Given the description of an element on the screen output the (x, y) to click on. 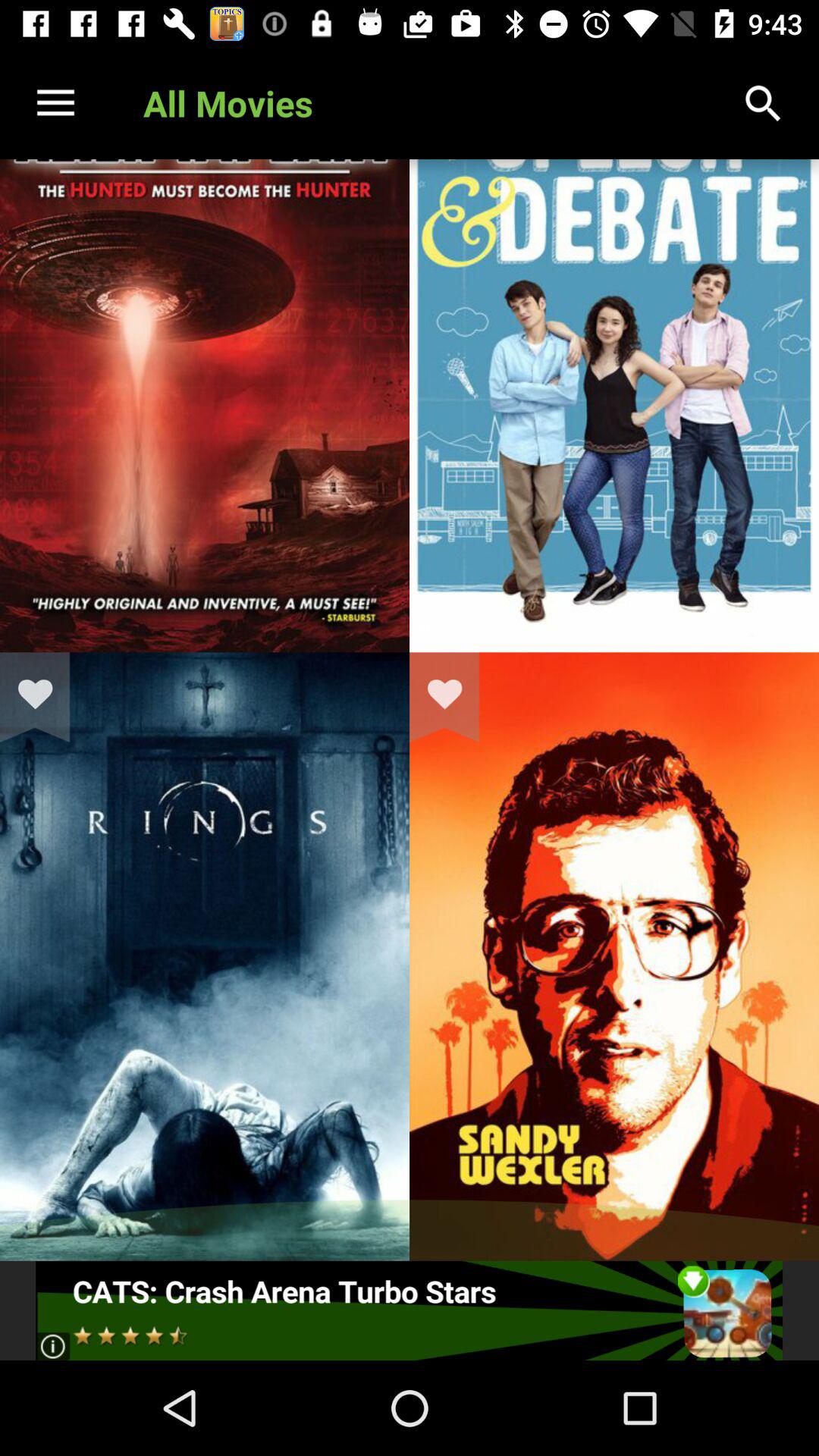
choose the item to the left of the all movies icon (55, 103)
